Given the description of an element on the screen output the (x, y) to click on. 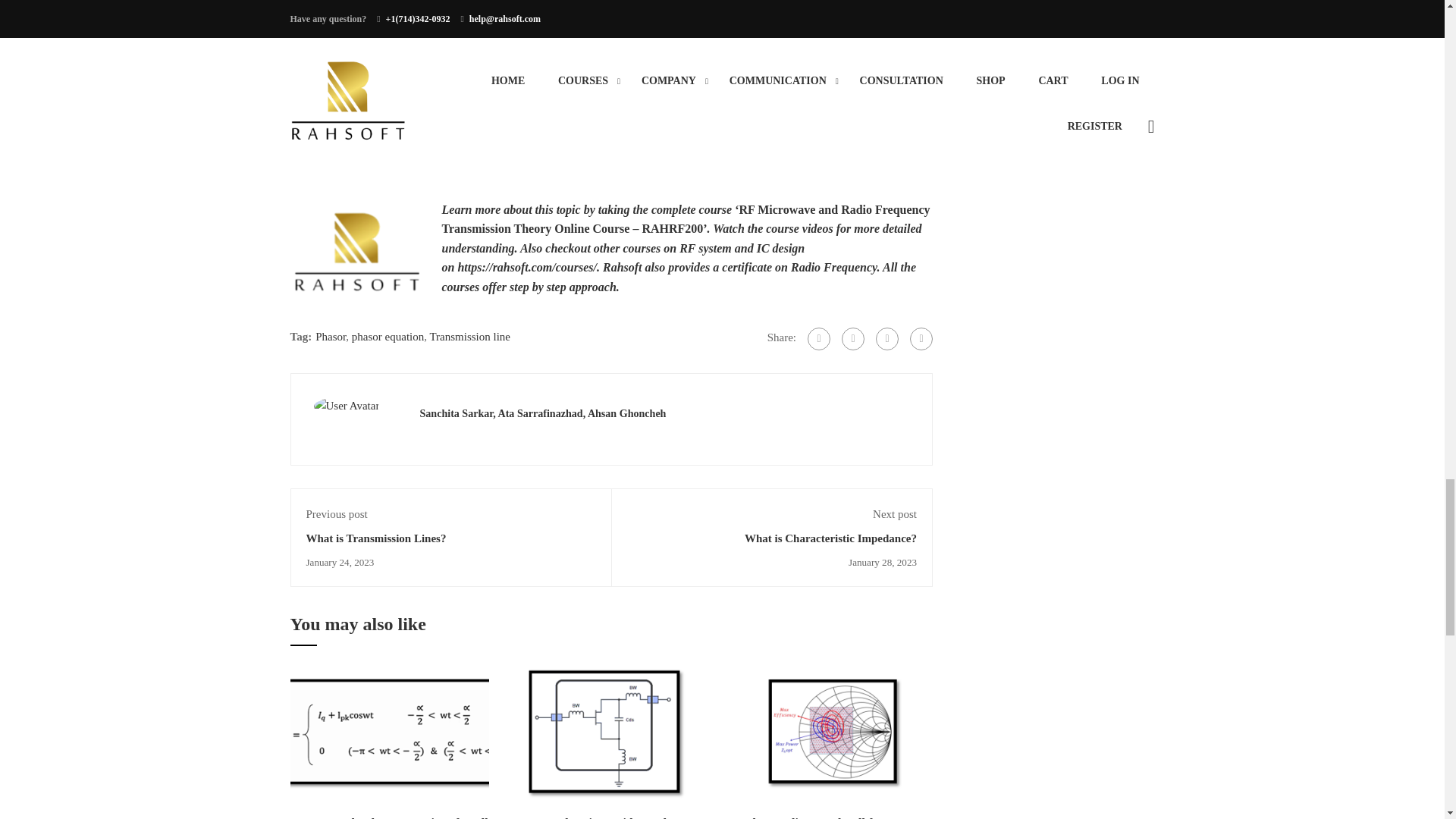
Pinterest (887, 338)
A Comprehensive Guide to Class A Amplifiers (611, 734)
Understanding Load Pull for Power Amplifiers (833, 734)
Class A (611, 735)
Twitter (852, 338)
Equations (389, 735)
Load pull (833, 735)
Current and Voltage Equations for All Amplifier Classes (389, 734)
Facebook (818, 338)
